Given the description of an element on the screen output the (x, y) to click on. 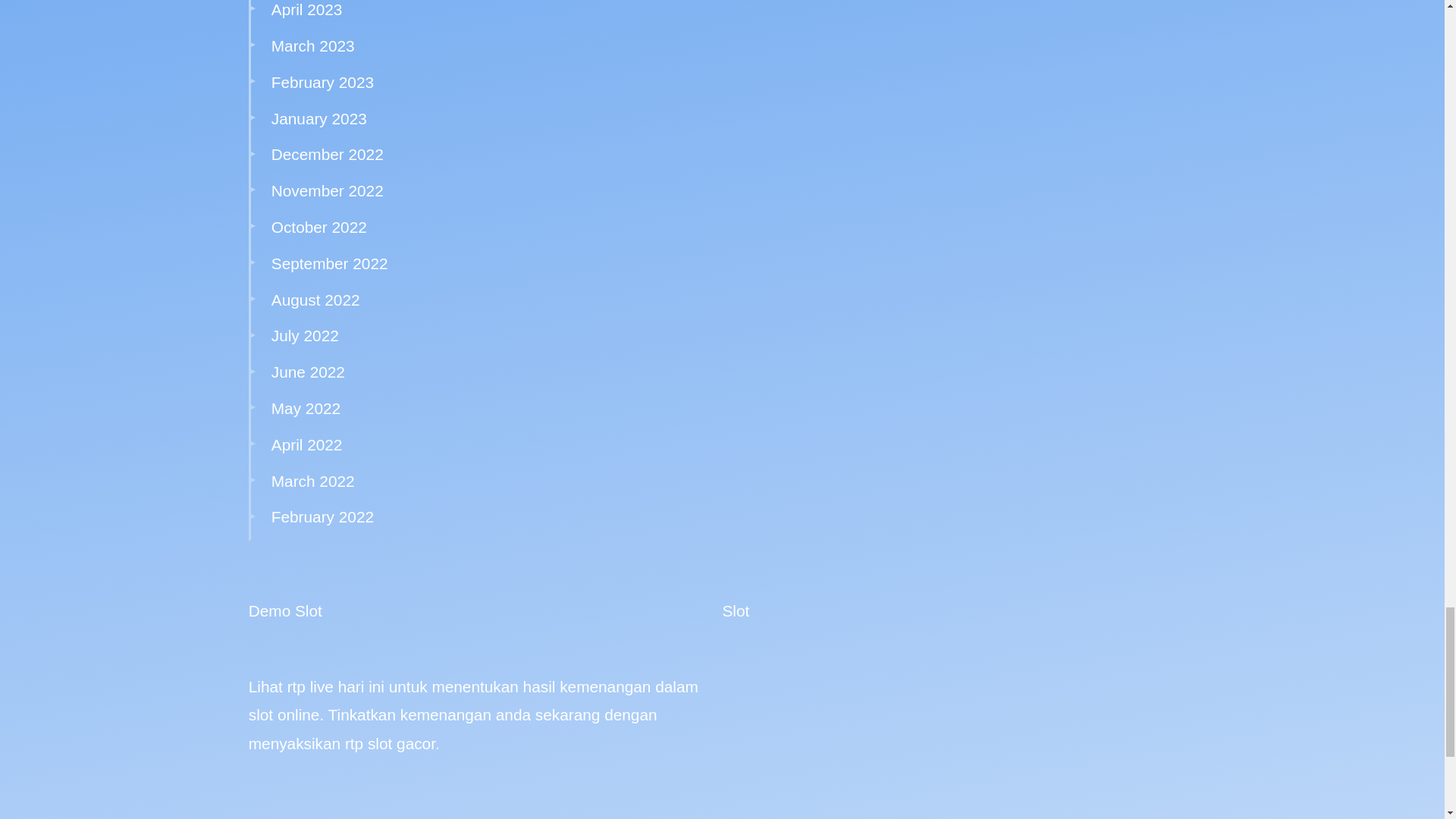
January 2023 (318, 118)
March 2023 (312, 45)
February 2023 (322, 81)
April 2023 (306, 9)
December 2022 (327, 153)
November 2022 (327, 190)
